Given the description of an element on the screen output the (x, y) to click on. 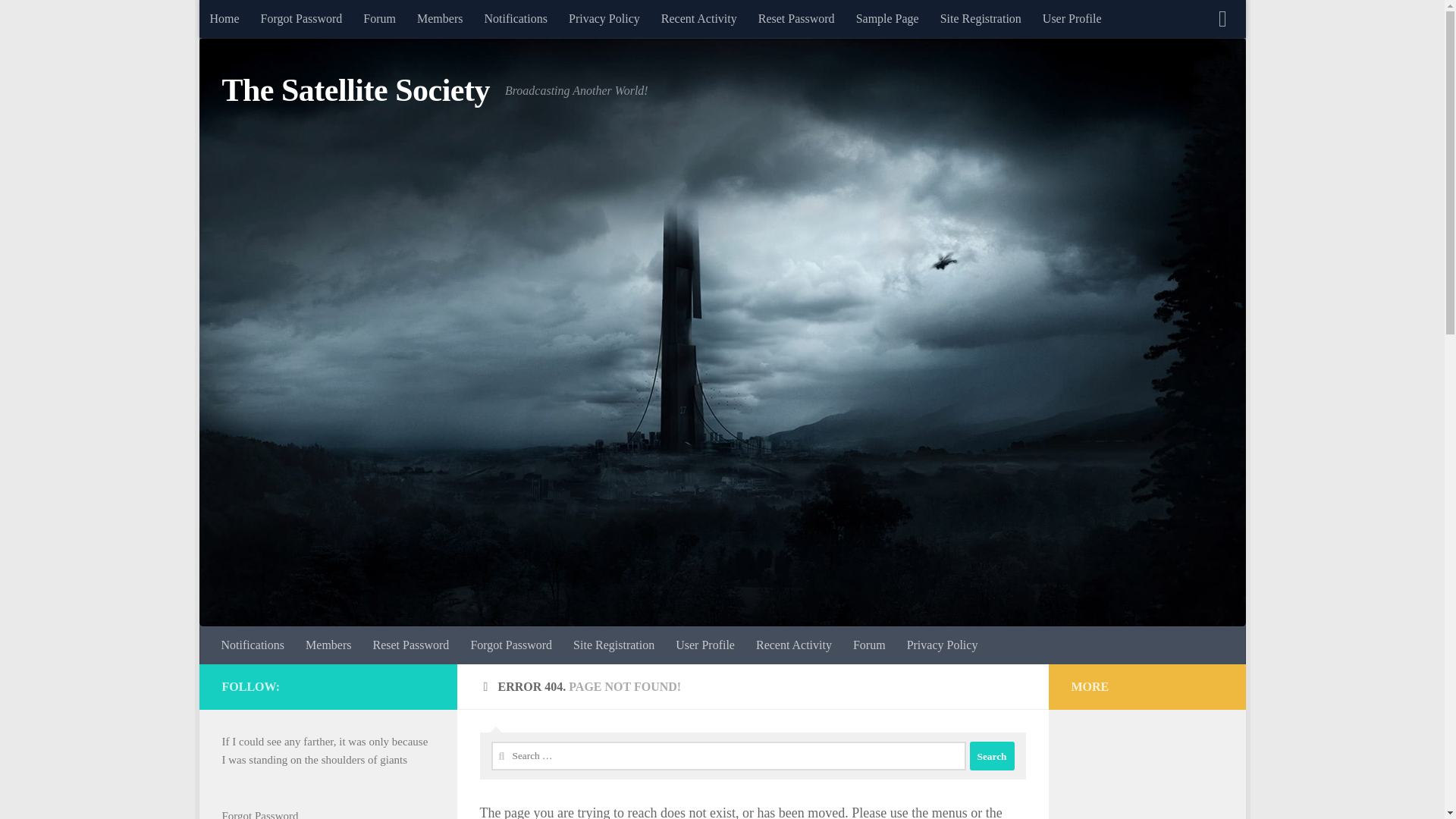
The Satellite Society (355, 90)
Sample Page (887, 18)
Notifications (515, 18)
User Profile (1072, 18)
Recent Activity (699, 18)
Members (328, 645)
Reset Password (410, 645)
Home (223, 18)
Forum (869, 645)
Reset Password (796, 18)
Site Registration (981, 18)
Forgot Password (511, 645)
Forgot Password (301, 18)
Skip to content (258, 20)
Search (991, 756)
